Given the description of an element on the screen output the (x, y) to click on. 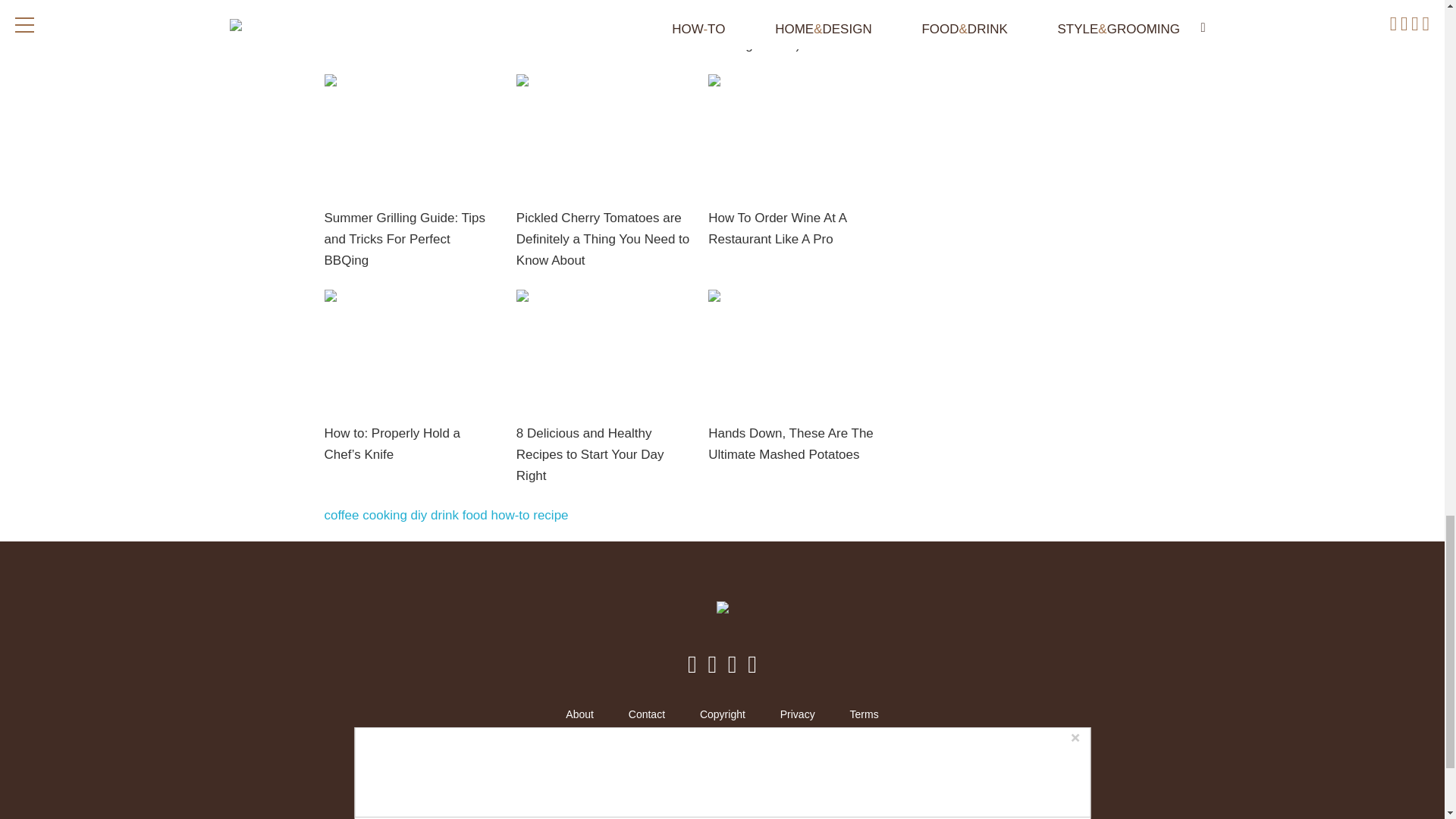
I Waste So Much Time (753, 773)
9 Fall Cocktail Recipes To Add Some Spice to Your Week (410, 15)
From Scratch to Sip: DIY Cocktails for the Home Bartender (587, 26)
Slow Robot (815, 773)
Decoist (629, 773)
Higher Perspectives (691, 773)
